Given the description of an element on the screen output the (x, y) to click on. 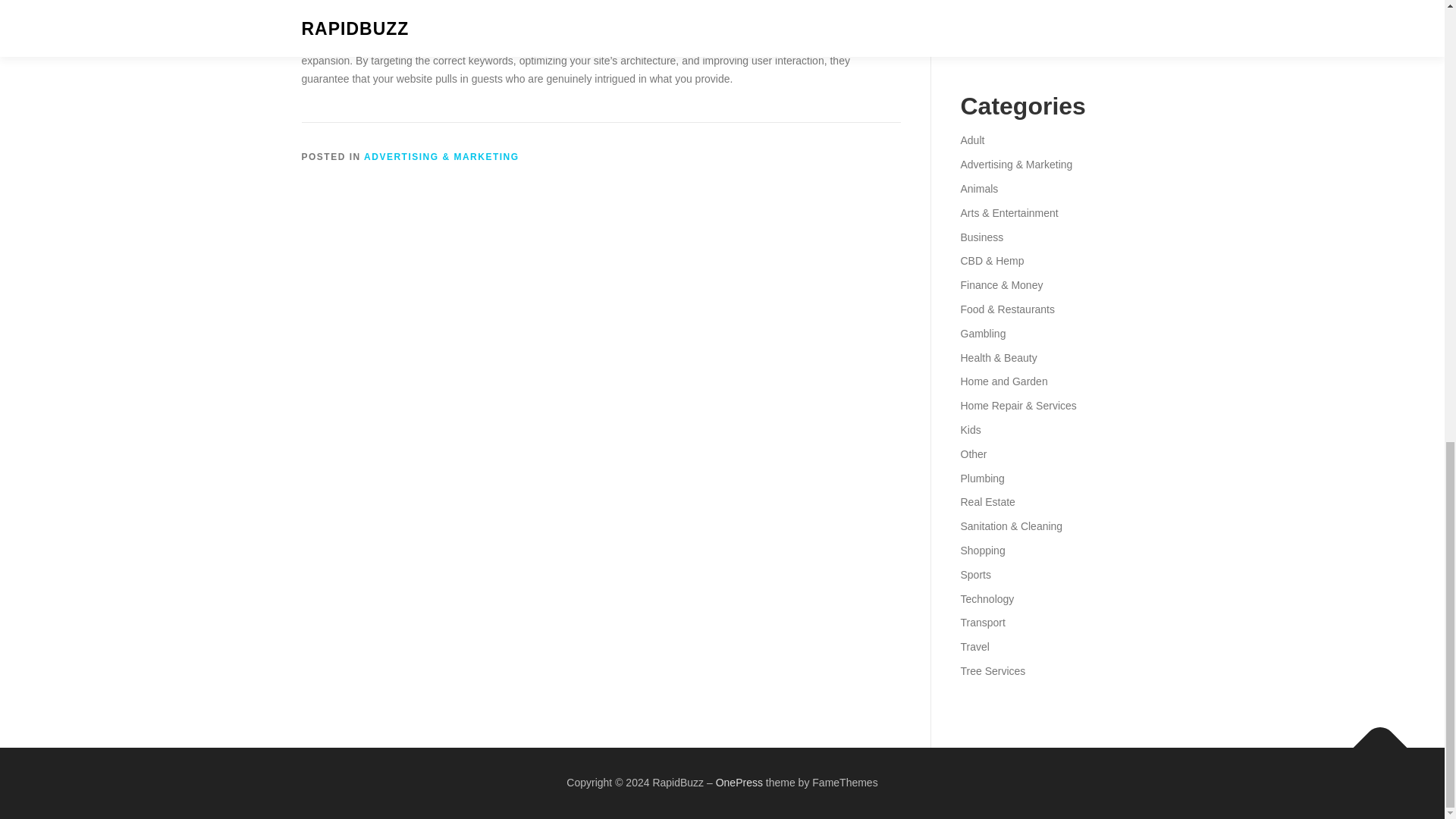
Business (981, 236)
Back To Top (1372, 739)
June 2023 (984, 2)
Animals (978, 188)
April 2023 (983, 45)
Adult (971, 140)
May 2023 (982, 21)
